Given the description of an element on the screen output the (x, y) to click on. 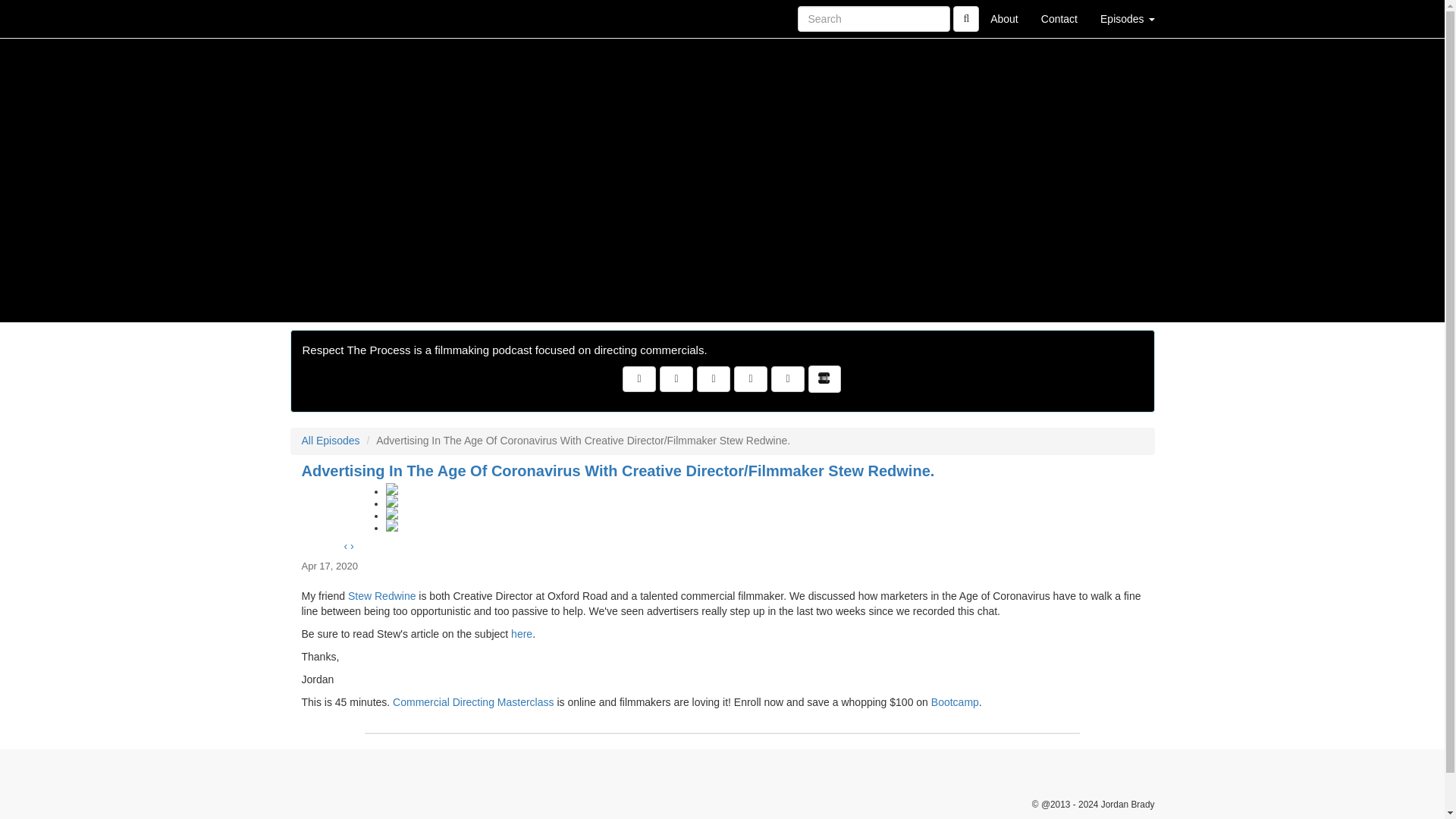
About (1003, 18)
Contact (1059, 18)
Home Page (320, 18)
Episodes (1127, 18)
